Given the description of an element on the screen output the (x, y) to click on. 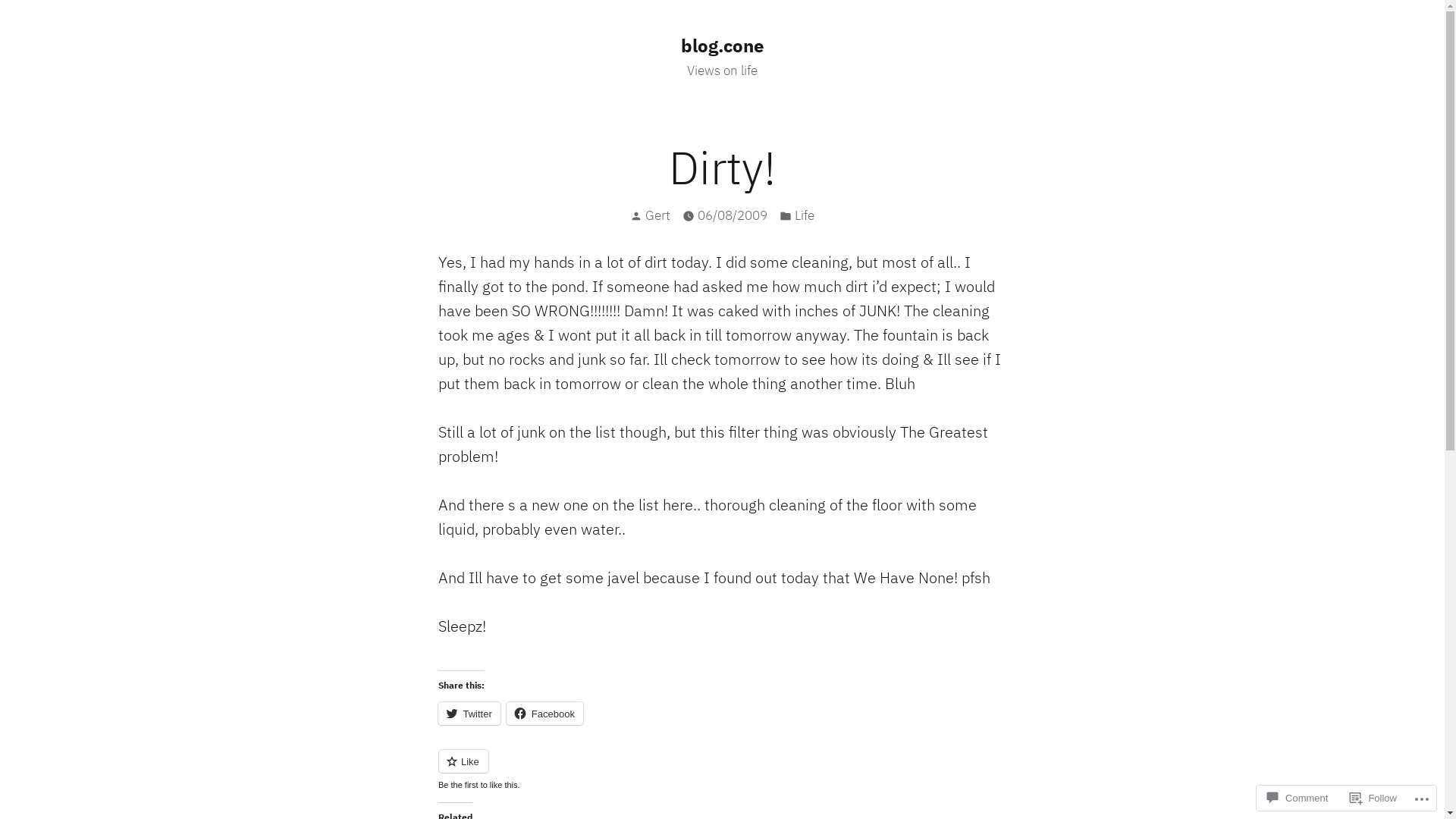
Gert Element type: text (657, 215)
06/08/2009 Element type: text (732, 215)
Like or Reblog Element type: hover (722, 769)
Comment Element type: text (1297, 797)
Facebook Element type: text (544, 713)
Twitter Element type: text (469, 713)
blog.cone Element type: text (721, 45)
Life Element type: text (804, 215)
Follow Element type: text (1372, 797)
